Given the description of an element on the screen output the (x, y) to click on. 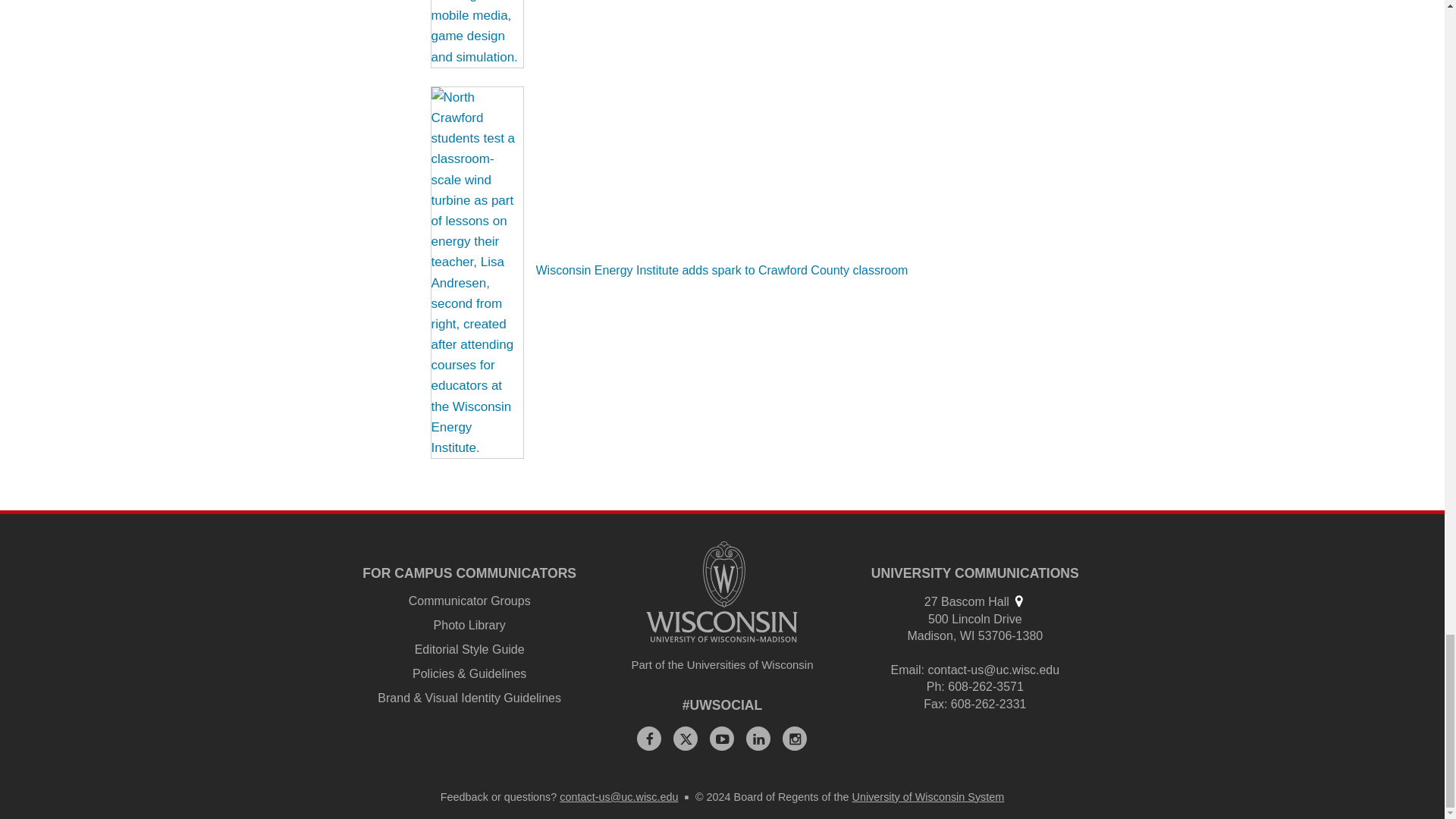
Instagram (794, 738)
phone (934, 686)
Wisconsin (967, 635)
Facebook (649, 738)
View on campus map (1018, 600)
YouTube (721, 738)
Linked In (757, 738)
University logo that links to main university website (721, 591)
Social media links (722, 704)
X, formerly Twitter (684, 738)
